Given the description of an element on the screen output the (x, y) to click on. 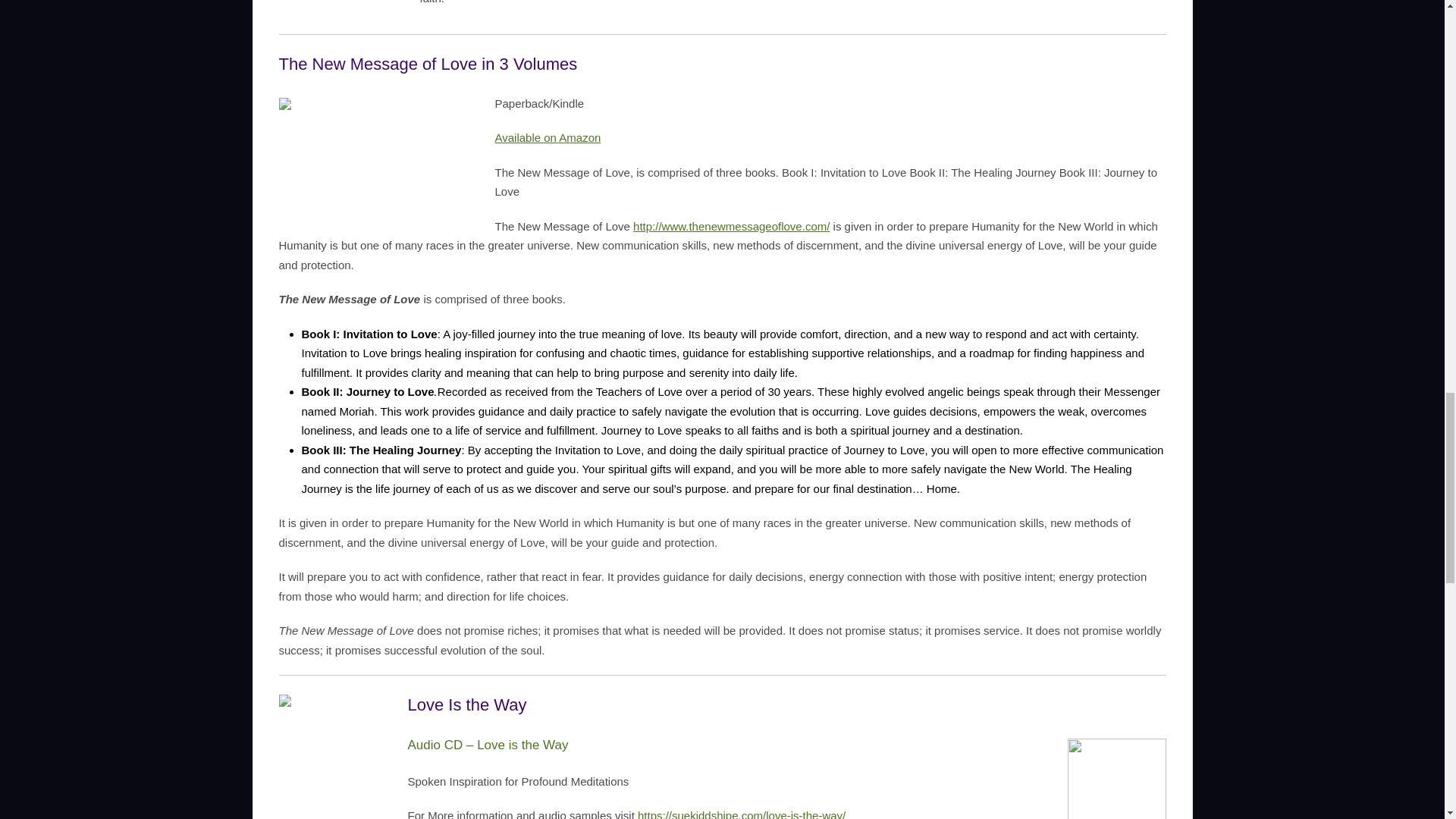
Available on Amazon (547, 137)
